Given the description of an element on the screen output the (x, y) to click on. 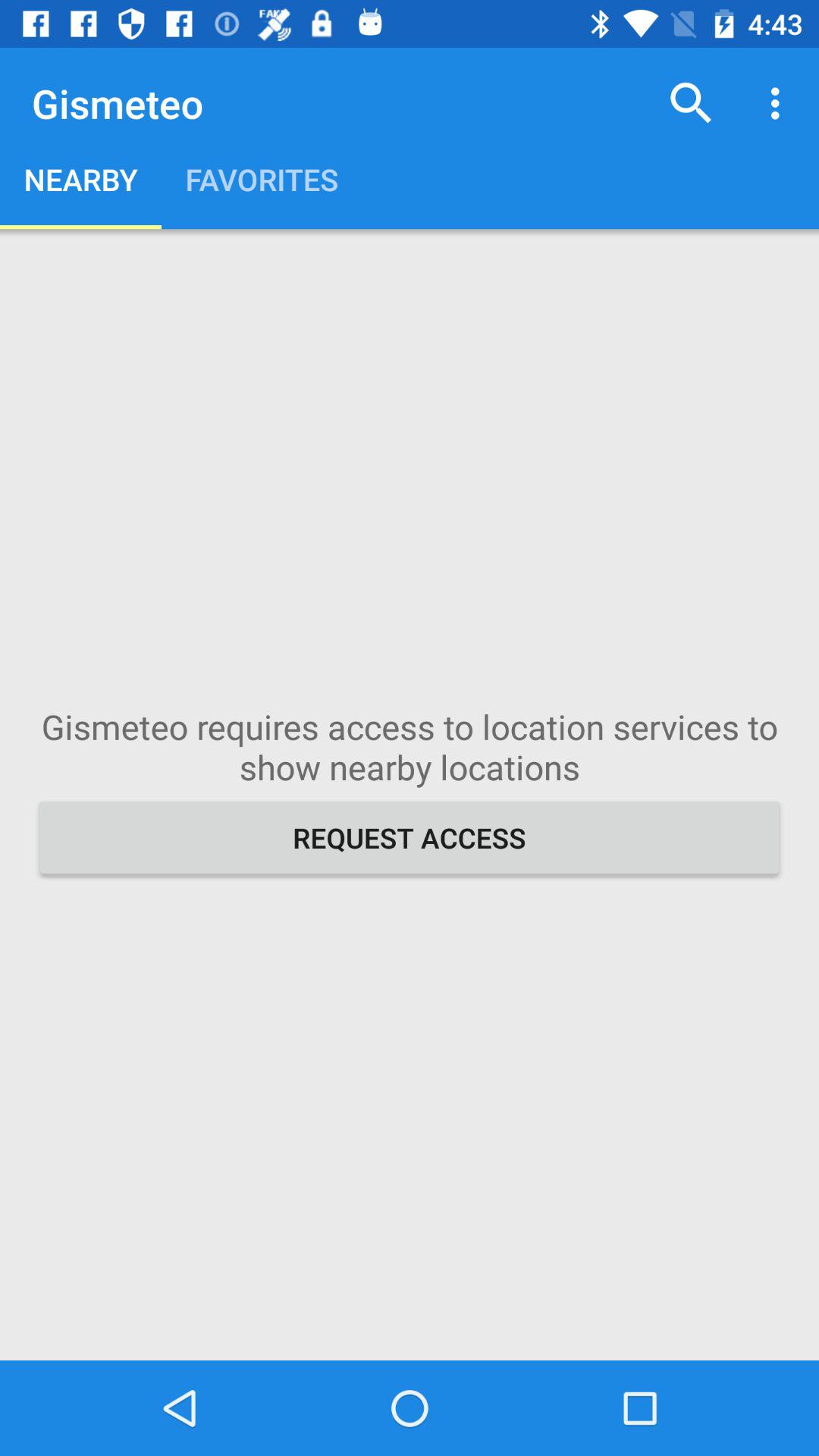
tap the request access icon (409, 837)
